Given the description of an element on the screen output the (x, y) to click on. 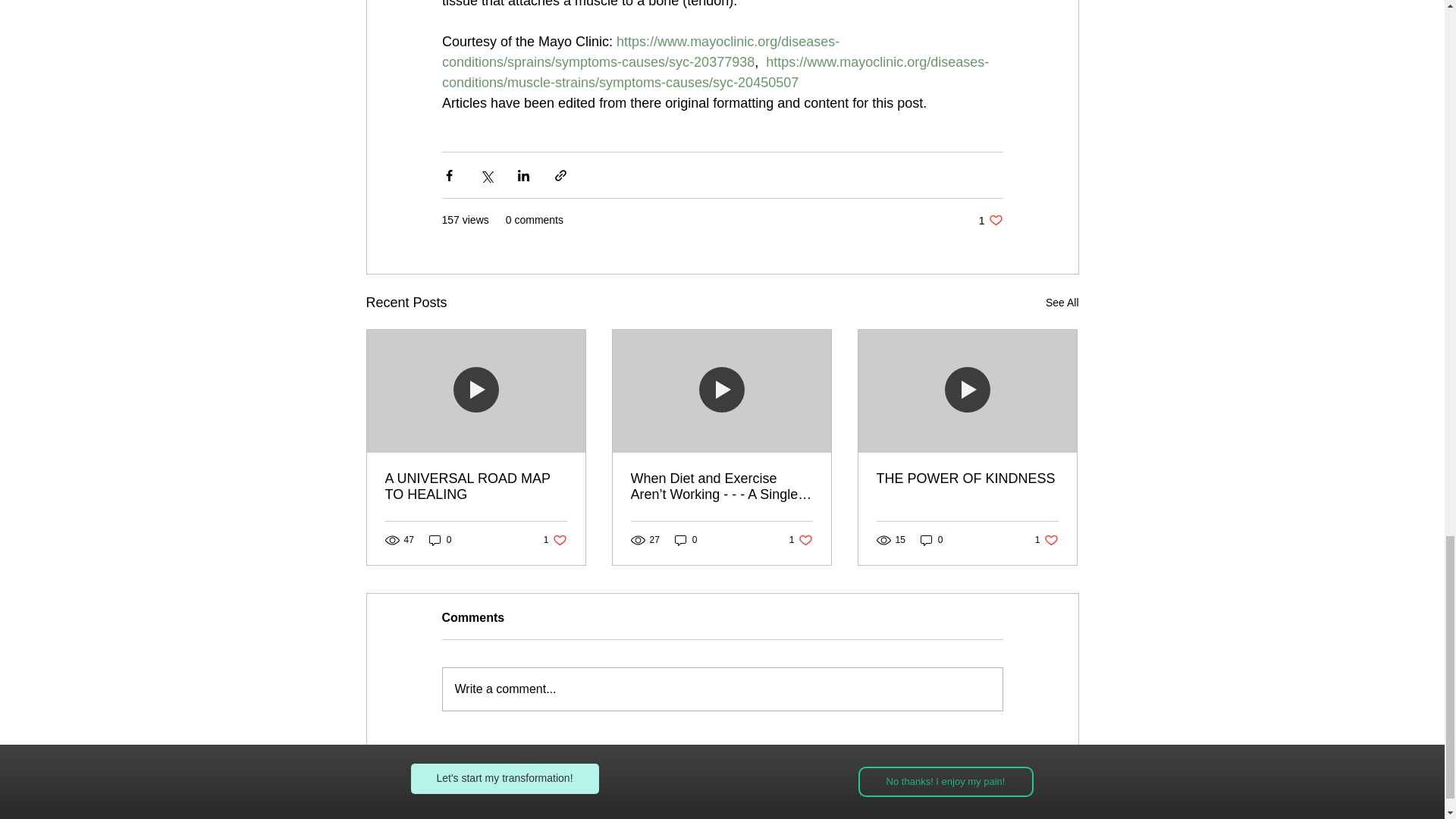
A UNIVERSAL ROAD MAP TO HEALING (476, 486)
0 (440, 540)
0 (931, 540)
See All (990, 219)
0 (1046, 540)
THE POWER OF KINDNESS (800, 540)
Write a comment... (1061, 302)
